Given the description of an element on the screen output the (x, y) to click on. 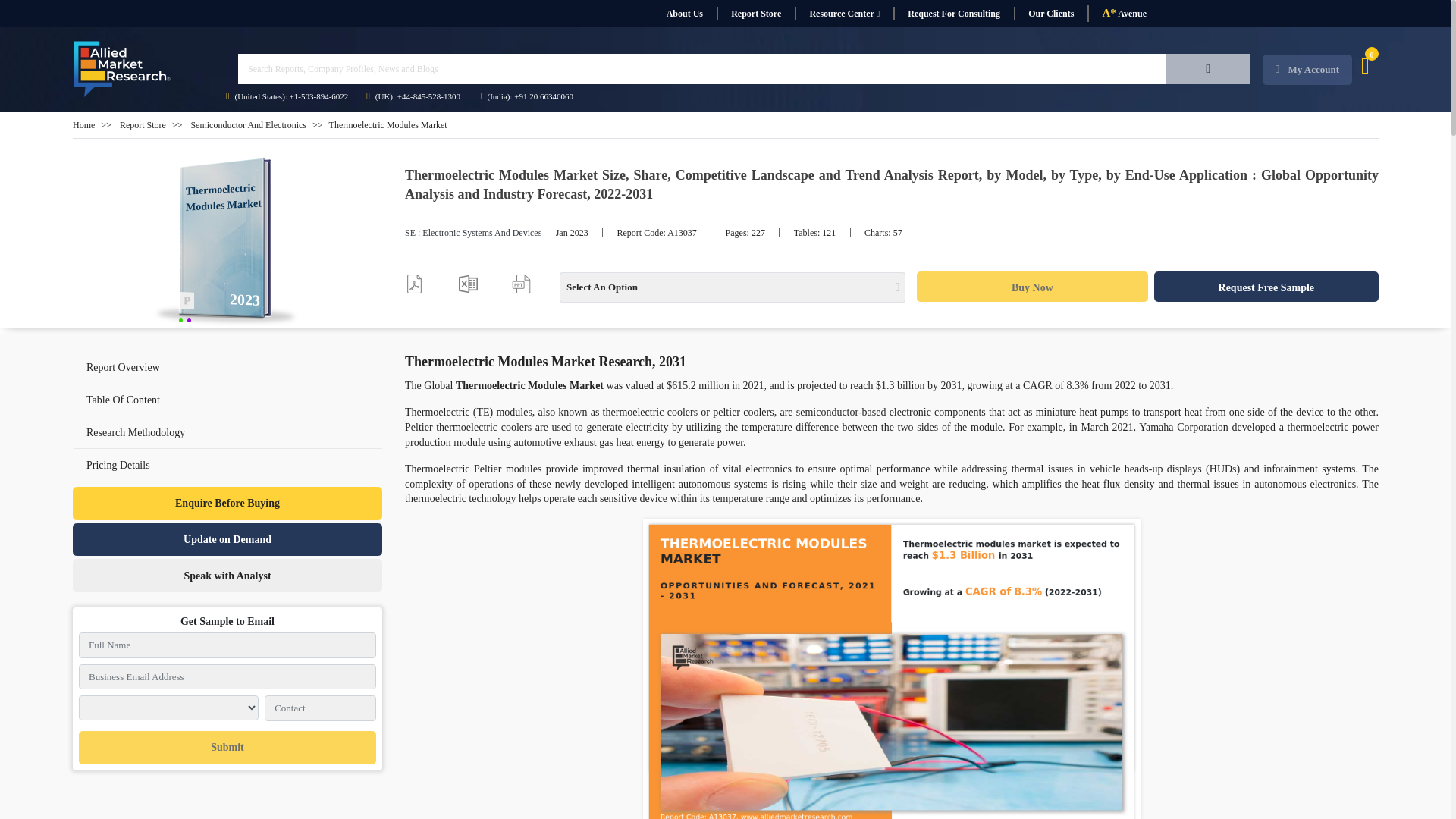
Update on Demand (226, 539)
My Account (1307, 69)
Report Store (755, 13)
Research Methodology (134, 432)
Our Clients (1050, 13)
Buy Now (1032, 286)
Table Of Content (122, 399)
Request Free Sample (1266, 286)
About Us (684, 13)
Speak with Analyst (226, 575)
Pricing Details (226, 464)
Request For Consulting (953, 13)
Data Pack Excel (467, 283)
Thermoelectric Modules Market (227, 242)
Allied Market Research (121, 68)
